Given the description of an element on the screen output the (x, y) to click on. 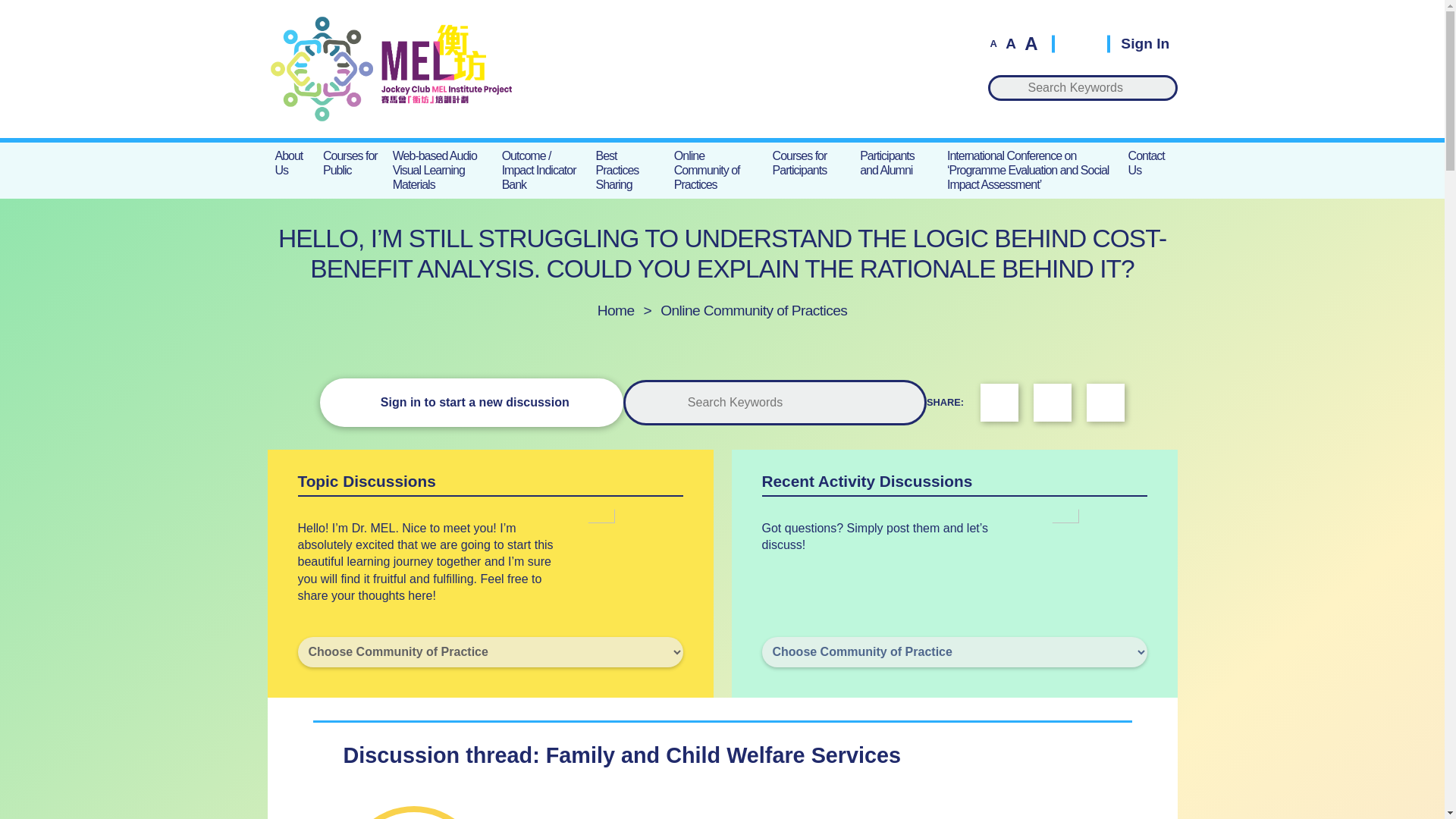
Best Practices Sharing (627, 170)
Online Community of Practices (754, 310)
A (1030, 44)
Courses for Participants (809, 162)
Contact Us (1149, 162)
Participants and Alumni (895, 162)
Online Community of Practices (715, 170)
Sign in to start a new discussion (471, 401)
Courses for Public (350, 162)
About Us (290, 162)
